Given the description of an element on the screen output the (x, y) to click on. 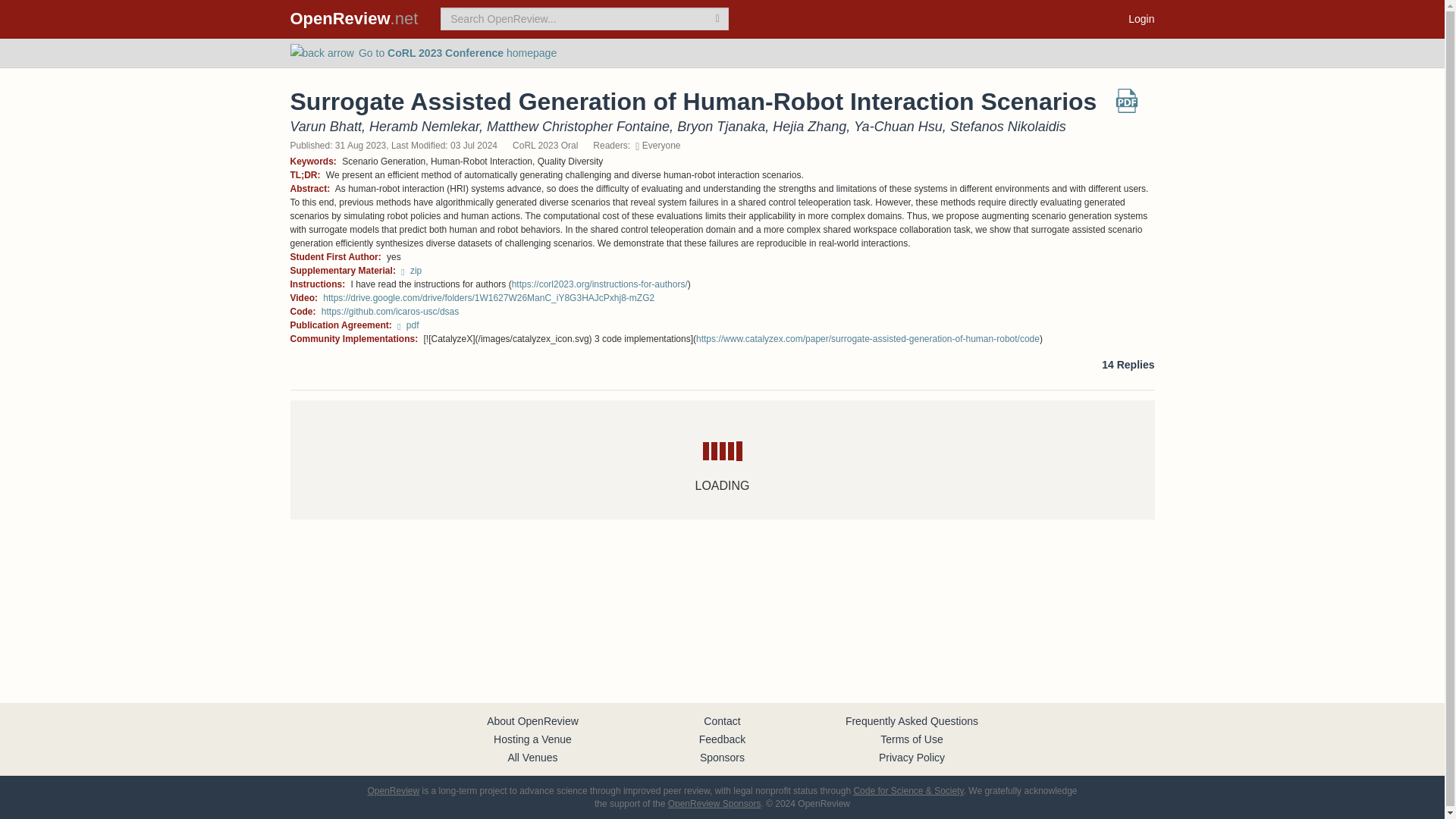
Login (1141, 18)
Matthew Christopher Fontaine (577, 126)
Go to CoRL 2023 Conference homepage (422, 52)
Privacy Policy (911, 757)
Terms of Use (911, 739)
Download Publication Agreement (408, 325)
Download PDF (1126, 106)
Contact (721, 720)
Varun Bhatt (325, 126)
Hosting a Venue (532, 739)
